Given the description of an element on the screen output the (x, y) to click on. 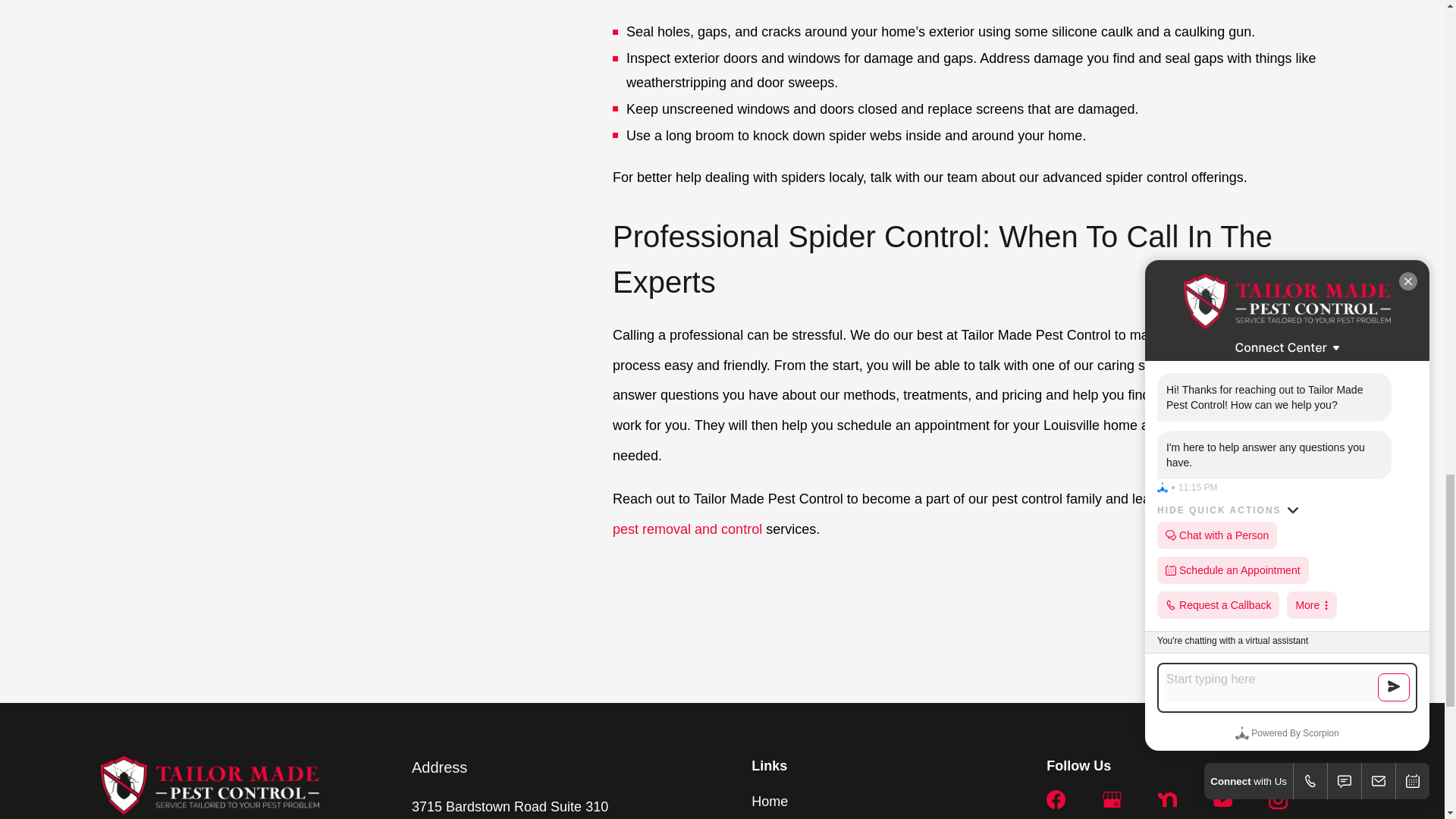
Google Business Profile (1111, 799)
Facebook (1055, 799)
Nextdoor (1166, 799)
YouTube (1221, 799)
Home (209, 784)
